Given the description of an element on the screen output the (x, y) to click on. 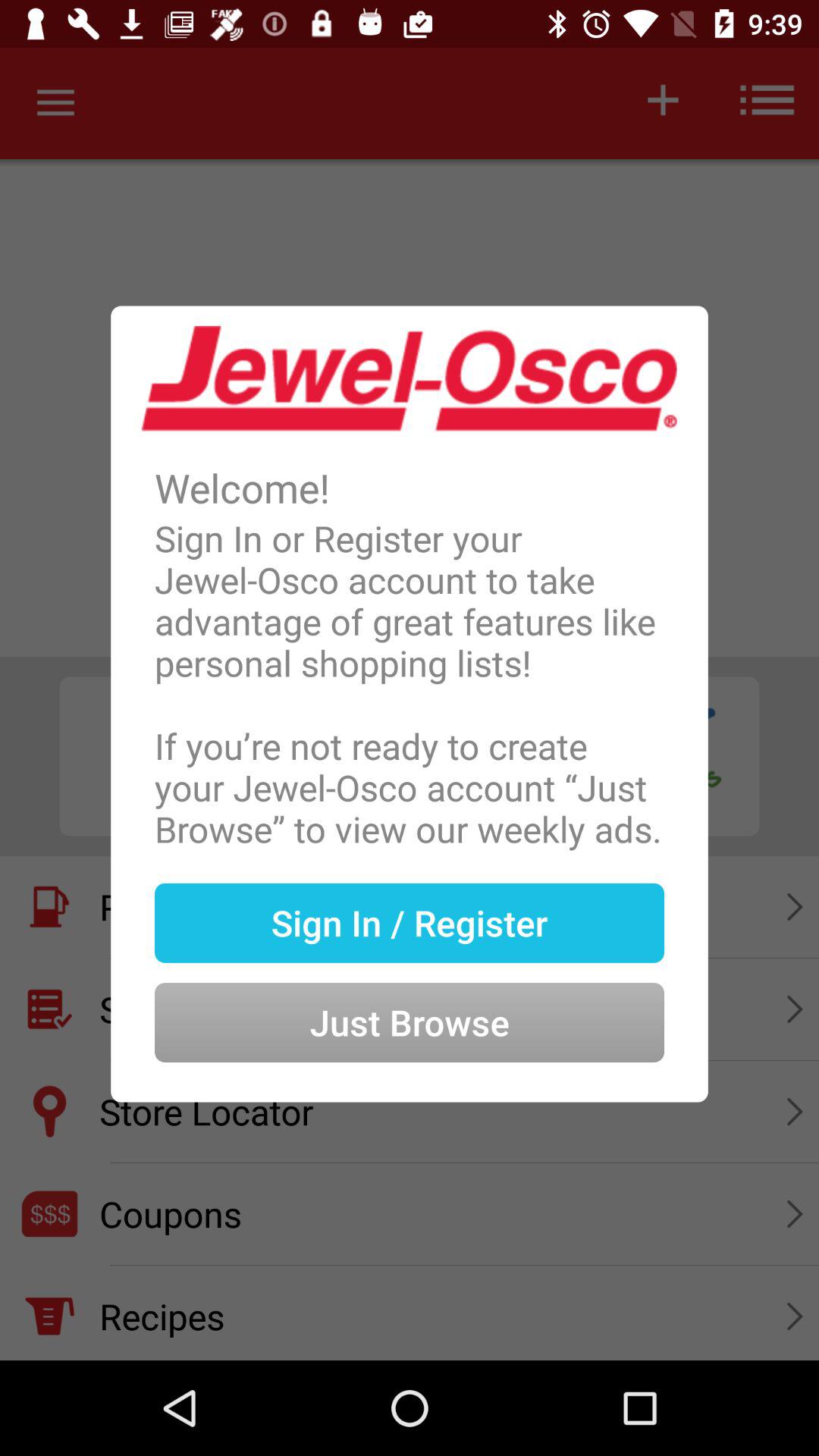
press icon below sign in / register item (409, 998)
